Given the description of an element on the screen output the (x, y) to click on. 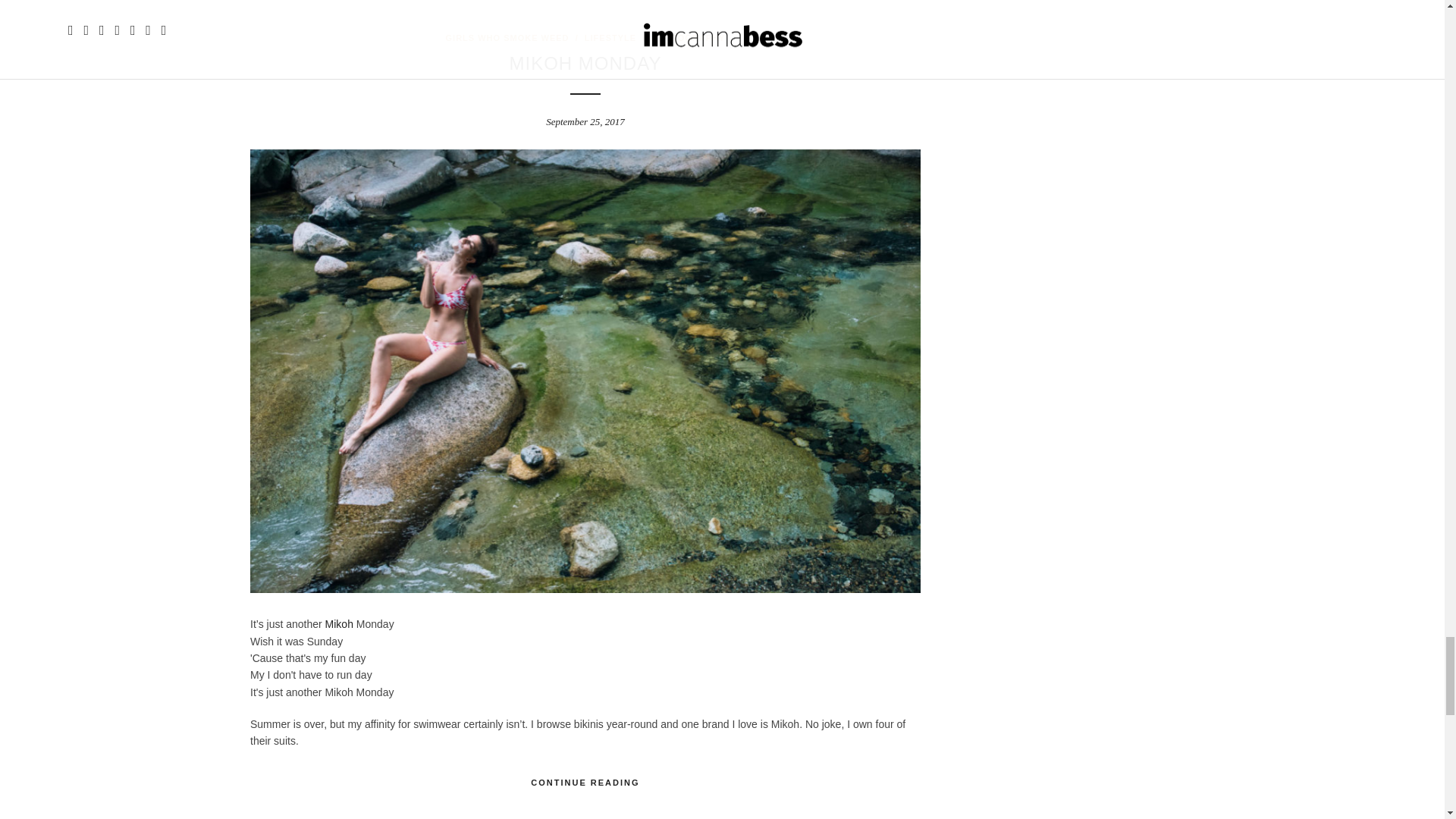
Mikoh Monday (585, 63)
